Given the description of an element on the screen output the (x, y) to click on. 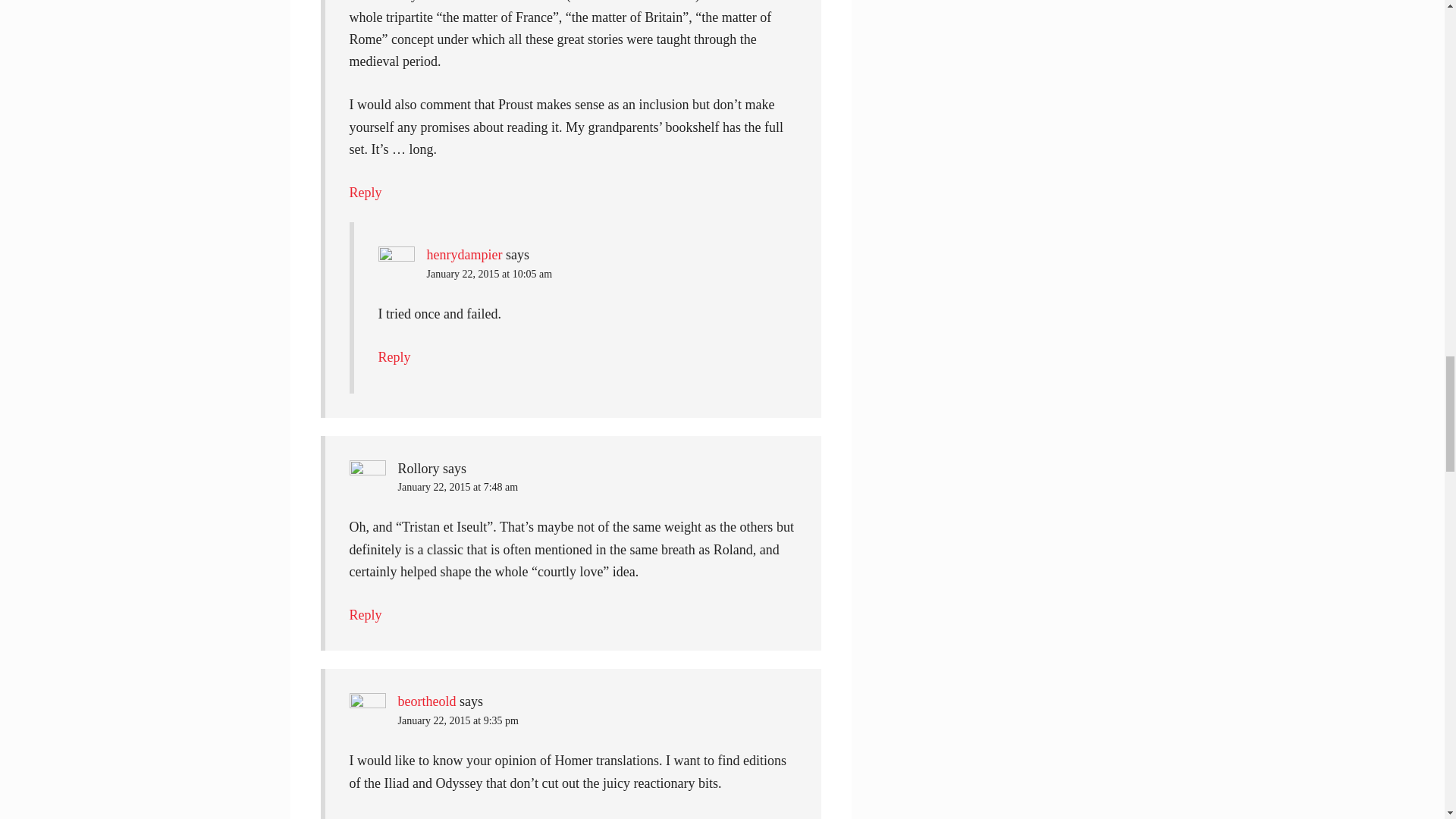
Reply (365, 192)
Reply (393, 356)
henrydampier (464, 254)
January 22, 2015 at 9:35 pm (457, 720)
Reply (365, 614)
January 22, 2015 at 10:05 am (488, 274)
January 22, 2015 at 7:48 am (457, 487)
beortheold (426, 701)
